Given the description of an element on the screen output the (x, y) to click on. 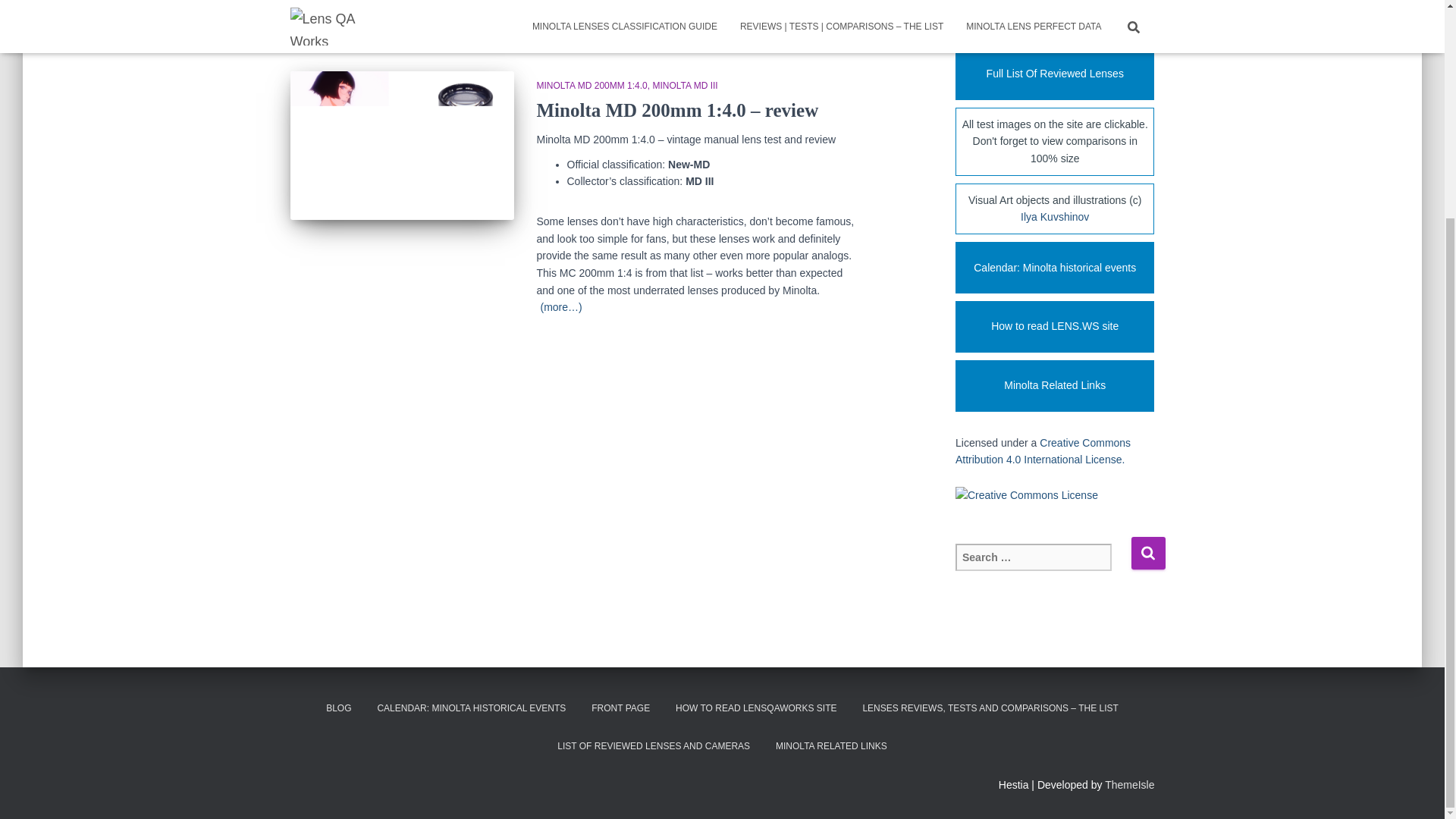
Creative Commons Attribution 4.0 International License. (1043, 451)
Search (1148, 553)
Ilya Kuvshinov (1054, 216)
MINOLTA RELATED LINKS (831, 746)
View all posts in Minolta MD 200mm 1:4.0 (594, 85)
HOW TO READ LENSQAWORKS SITE (755, 708)
FRONT PAGE (620, 708)
ThemeIsle (1129, 784)
How to read LENS.WS site (1054, 326)
Calendar: Minolta historical events (1054, 267)
